Given the description of an element on the screen output the (x, y) to click on. 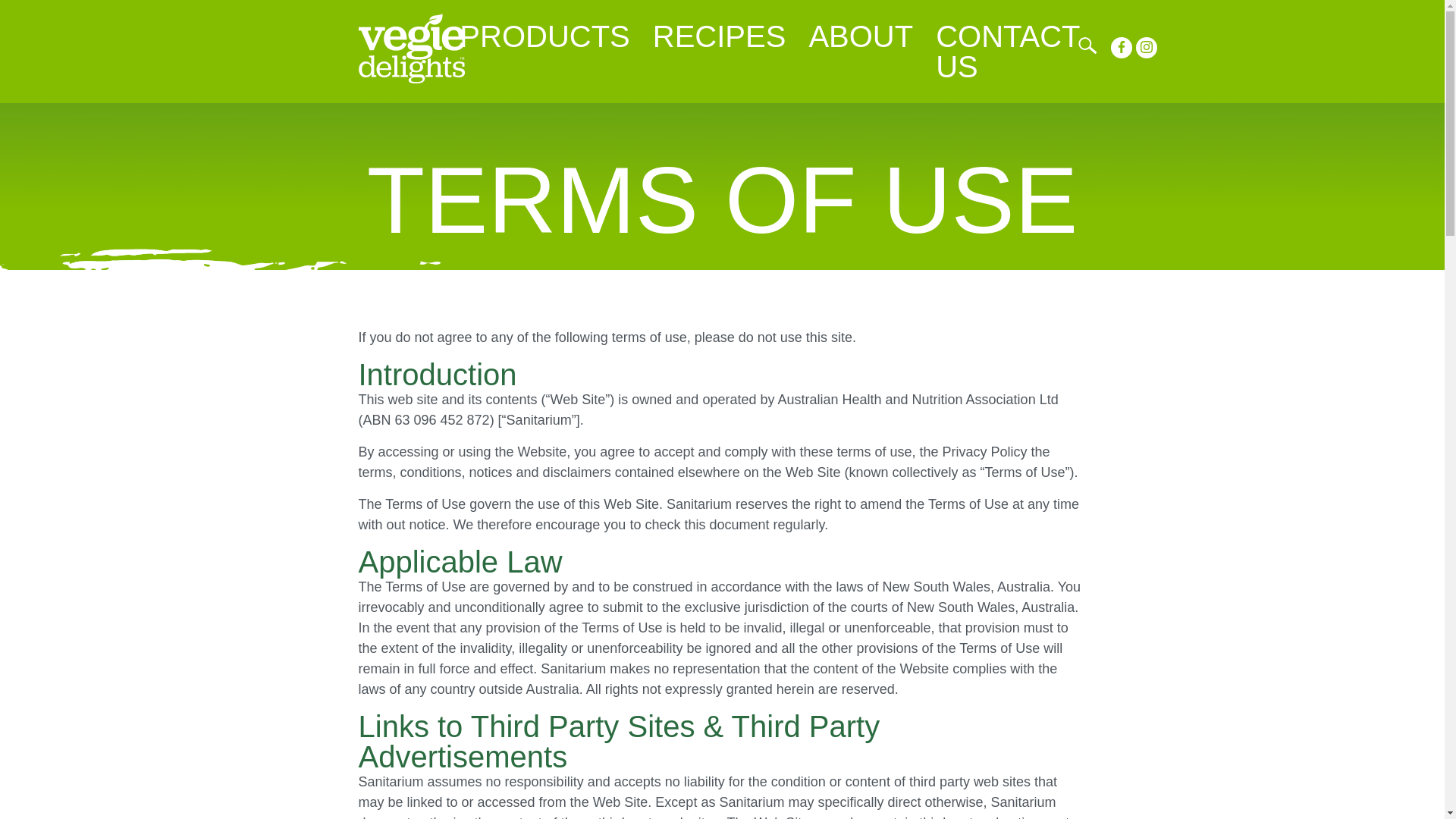
PRODUCTS (544, 36)
Facebook (1121, 47)
Instagram (1146, 47)
RECIPES (719, 36)
CONTACT US (1007, 51)
ABOUT (860, 36)
